Given the description of an element on the screen output the (x, y) to click on. 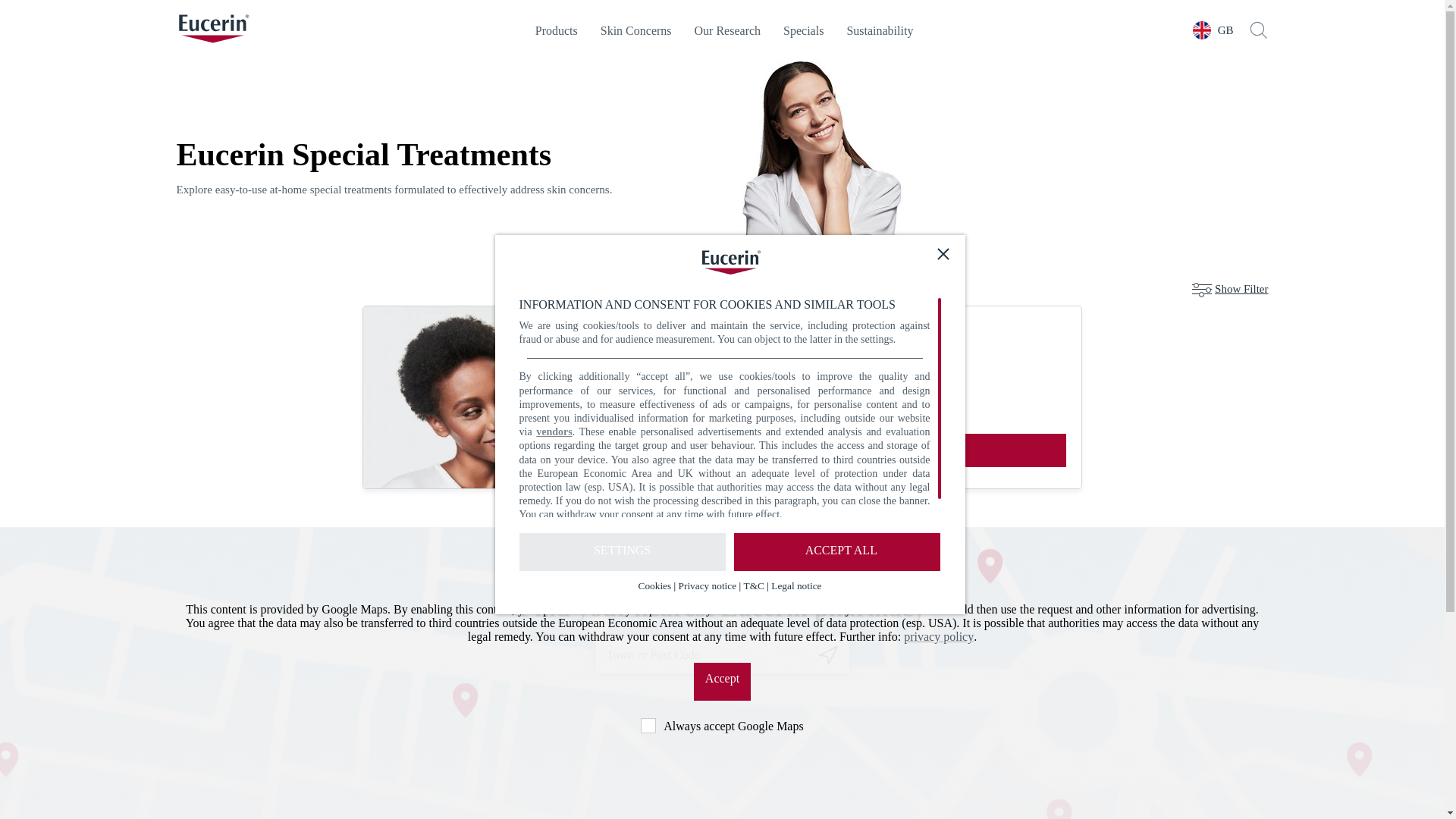
s1104 (648, 725)
Privacy notice (707, 585)
SETTINGS (622, 551)
vendors (553, 431)
ACCEPT ALL (836, 551)
Products (556, 29)
Cookies (655, 585)
Legal notice (796, 585)
